Given the description of an element on the screen output the (x, y) to click on. 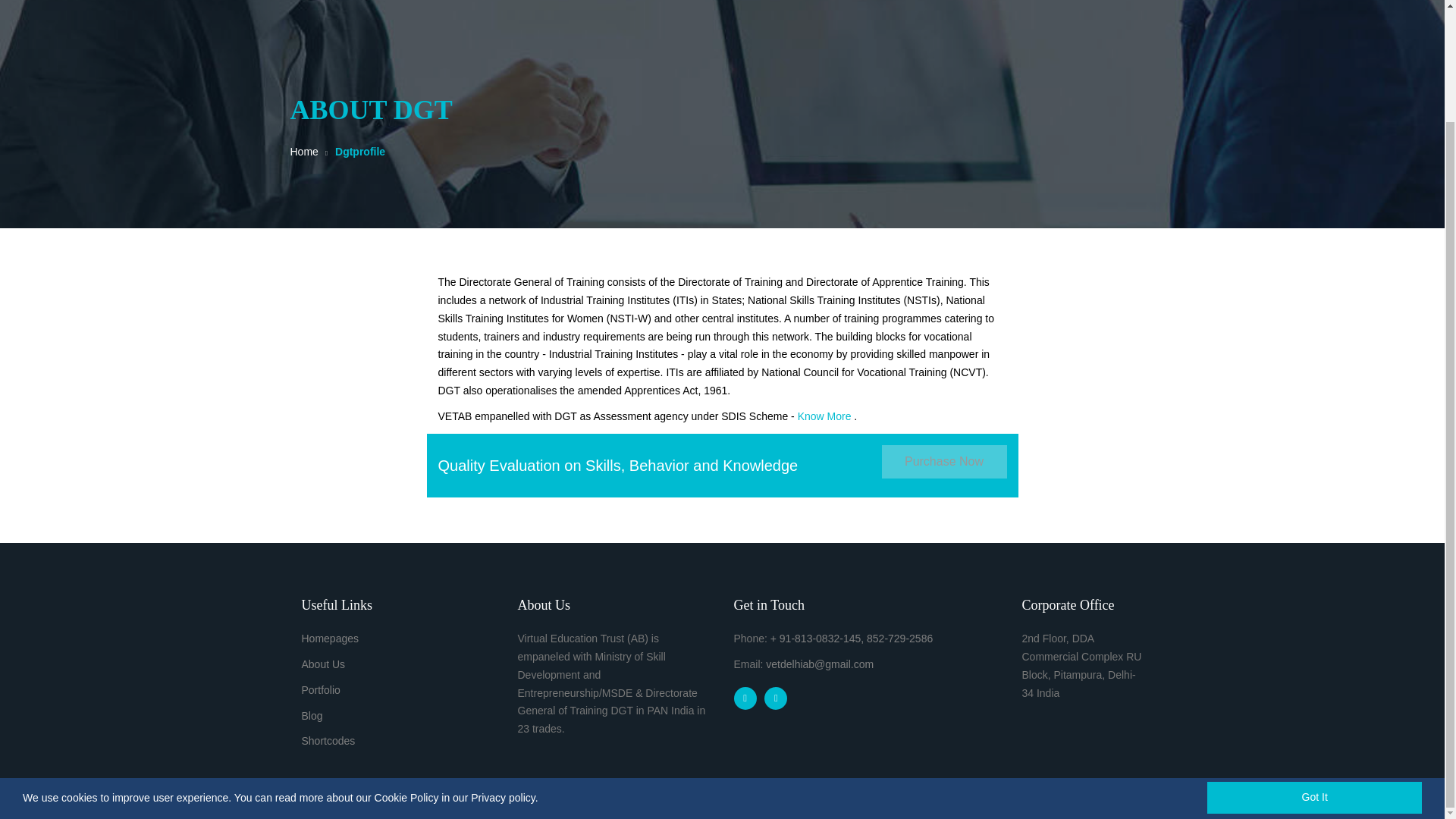
About Us (323, 664)
Home (303, 151)
Homepages (330, 638)
Got It (1314, 665)
Portfolio (320, 689)
Shortcodes (328, 740)
Purchase Now (943, 461)
Know More (824, 416)
Blog (312, 715)
